Given the description of an element on the screen output the (x, y) to click on. 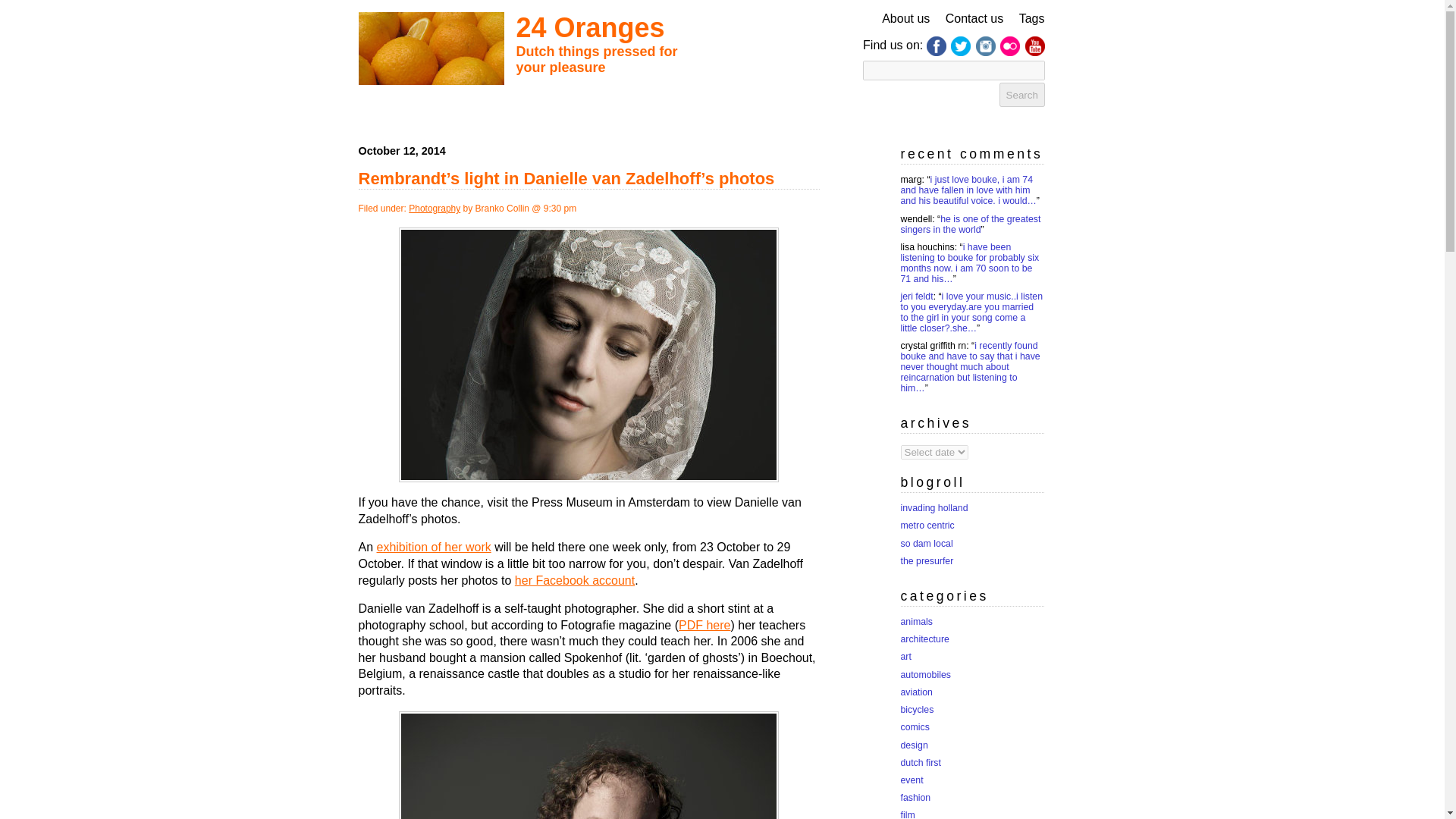
Search (1021, 94)
Photography (434, 208)
Contact us (973, 18)
her Facebook account (574, 579)
About us (906, 18)
PDF here (704, 625)
Tags (1032, 18)
exhibition of her work (434, 546)
24 Oranges (589, 27)
Search (1021, 94)
